Given the description of an element on the screen output the (x, y) to click on. 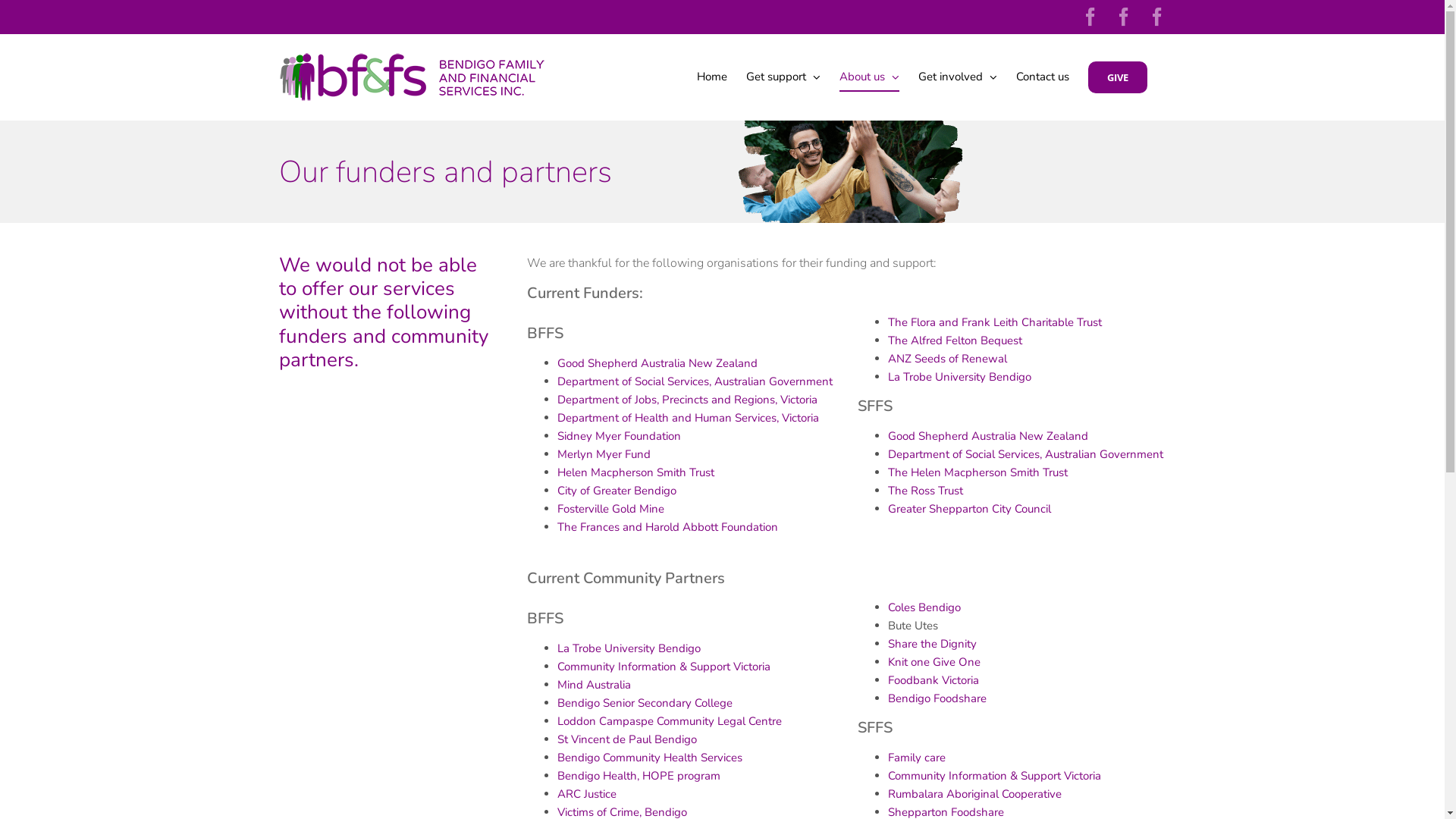
Rumbalara Aboriginal Cooperative Element type: text (974, 793)
St Vincent de Paul Bendigo Element type: text (626, 738)
Greater Shepparton City Council Element type: text (969, 508)
La Trobe University Bendigo Element type: text (628, 647)
Good Shepherd Australia New Zealand Element type: text (988, 435)
The Ross Trust Element type: text (925, 490)
Community Information & Support Victoria Element type: text (994, 775)
Facebook Element type: text (1123, 16)
Helen Macpherson Smith Trust Element type: text (635, 472)
Get support Element type: text (783, 76)
Bendigo Senior Secondary College Element type: text (644, 702)
Knit one Give One Element type: text (934, 661)
La Trobe University Bendigo Element type: text (959, 376)
Home Element type: text (711, 76)
The Alfred Felton Bequest Element type: text (955, 340)
Department of Social Services, Australian Government Element type: text (1025, 453)
GIVE Element type: text (1116, 76)
Mind Australia Element type: text (593, 684)
Get involved Element type: text (956, 76)
Contact us Element type: text (1042, 76)
The Frances and Harold Abbott Foundation Element type: text (667, 526)
Facebook Element type: text (1157, 16)
City of Greater Bendigo Element type: text (616, 490)
The Helen Macpherson Smith Trust Element type: text (977, 472)
About us Element type: text (868, 76)
Community Information & Support Victoria Element type: text (663, 666)
Department of Health and Human Services, Victoria Element type: text (688, 417)
Family care Element type: text (916, 757)
ARC Justice Element type: text (586, 793)
Sidney Myer Foundation Element type: text (618, 435)
Department of Jobs, Precincts and Regions, Victoria Element type: text (687, 399)
Facebook Element type: text (1090, 16)
Share the Dignity Element type: text (932, 643)
Foodbank Victoria Element type: text (933, 679)
Good Shepherd Australia New Zealand Element type: text (657, 362)
Loddon Campaspe Community Legal Centre Element type: text (669, 720)
Merlyn Myer Fund Element type: text (603, 453)
ANZ Seeds of Renewal Element type: text (947, 358)
Coles Bendigo Element type: text (924, 607)
Bendigo Community Health Services Element type: text (649, 757)
Bendigo Foodshare Element type: text (937, 698)
Department of Social Services, Australian Government Element type: text (694, 381)
Bendigo Health, HOPE program Element type: text (638, 775)
The Flora and Frank Leith Charitable Trust Element type: text (994, 321)
Fosterville Gold Mine Element type: text (610, 508)
